Given the description of an element on the screen output the (x, y) to click on. 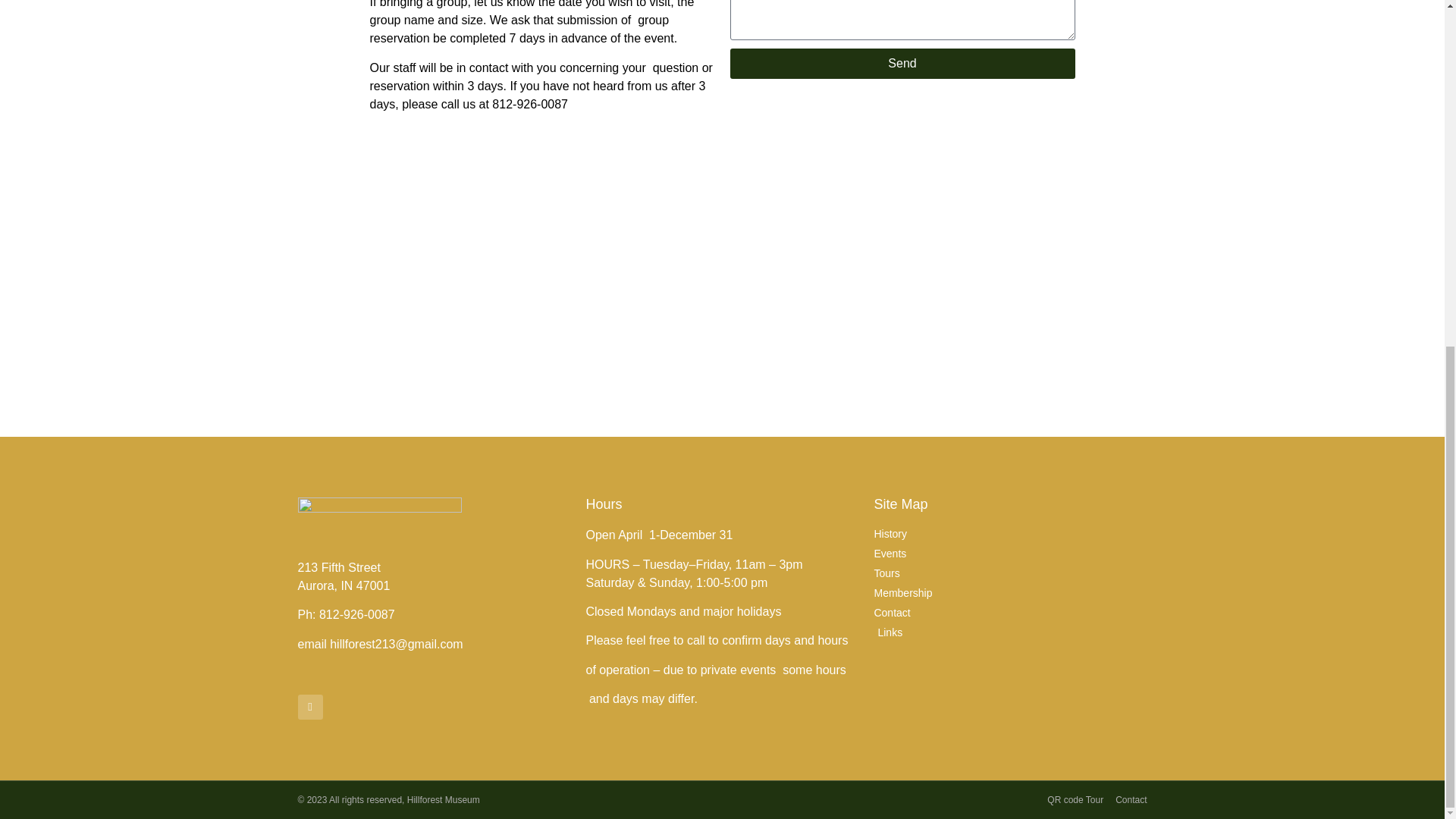
Contact (1131, 799)
Events (1010, 553)
Contact (1010, 612)
QR code Tour (1074, 799)
History (1010, 534)
Membership (1010, 593)
Send (901, 63)
Links (1010, 632)
Tours (1010, 573)
